Given the description of an element on the screen output the (x, y) to click on. 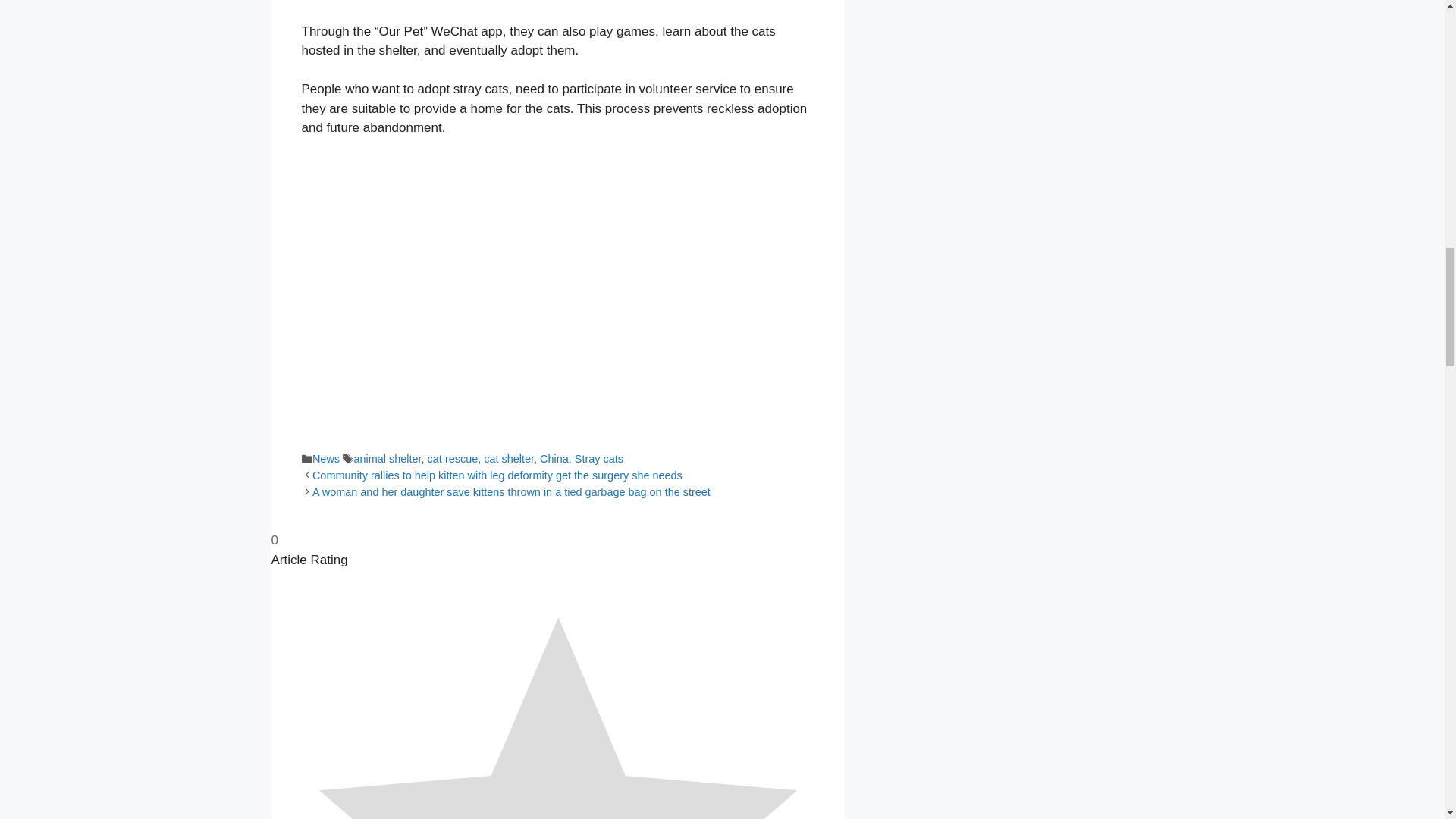
animal shelter (386, 458)
Stray cats (599, 458)
China (554, 458)
News (326, 458)
cat shelter (508, 458)
cat rescue (453, 458)
